Given the description of an element on the screen output the (x, y) to click on. 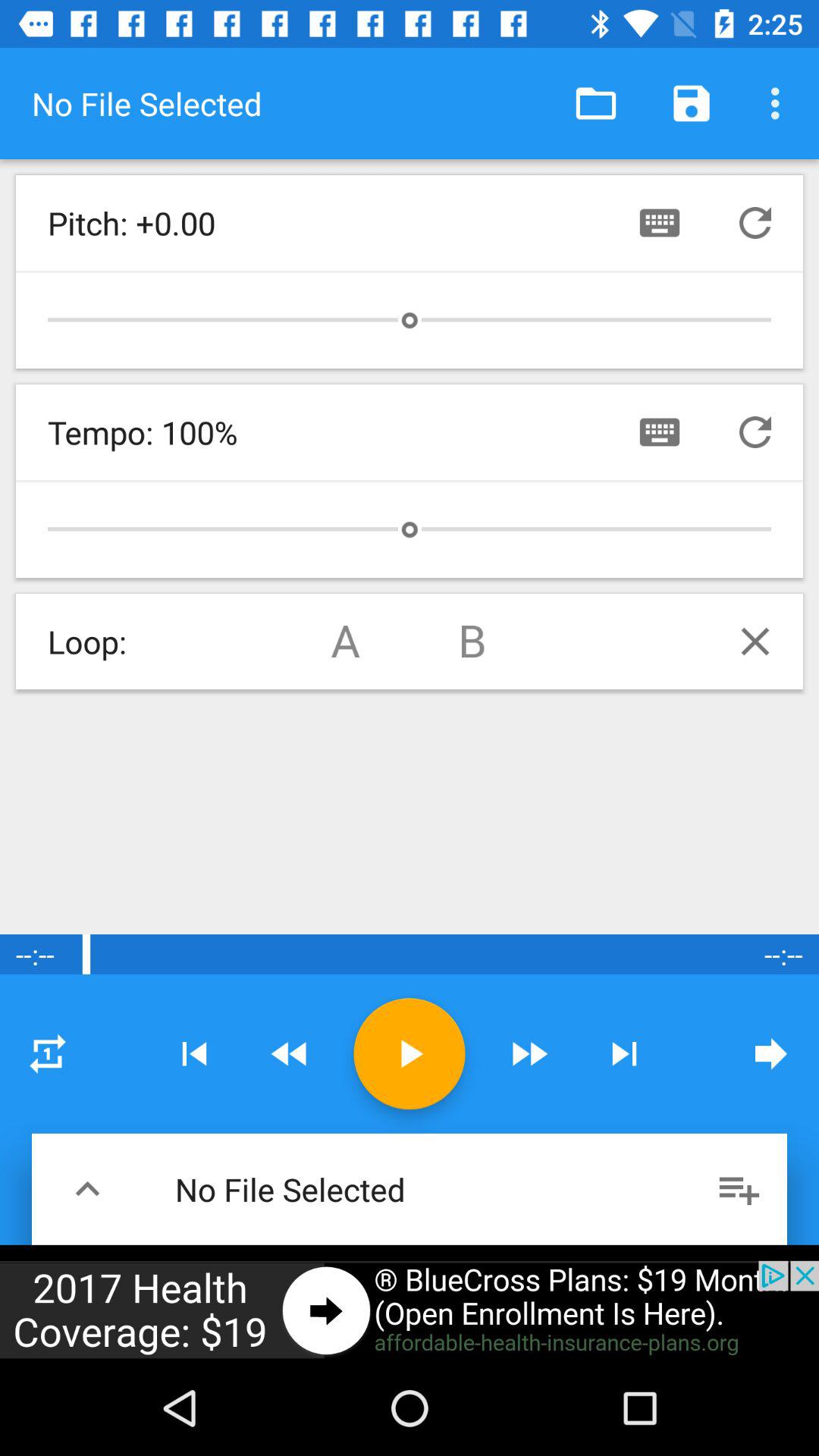
hit up aarow (87, 1188)
